Given the description of an element on the screen output the (x, y) to click on. 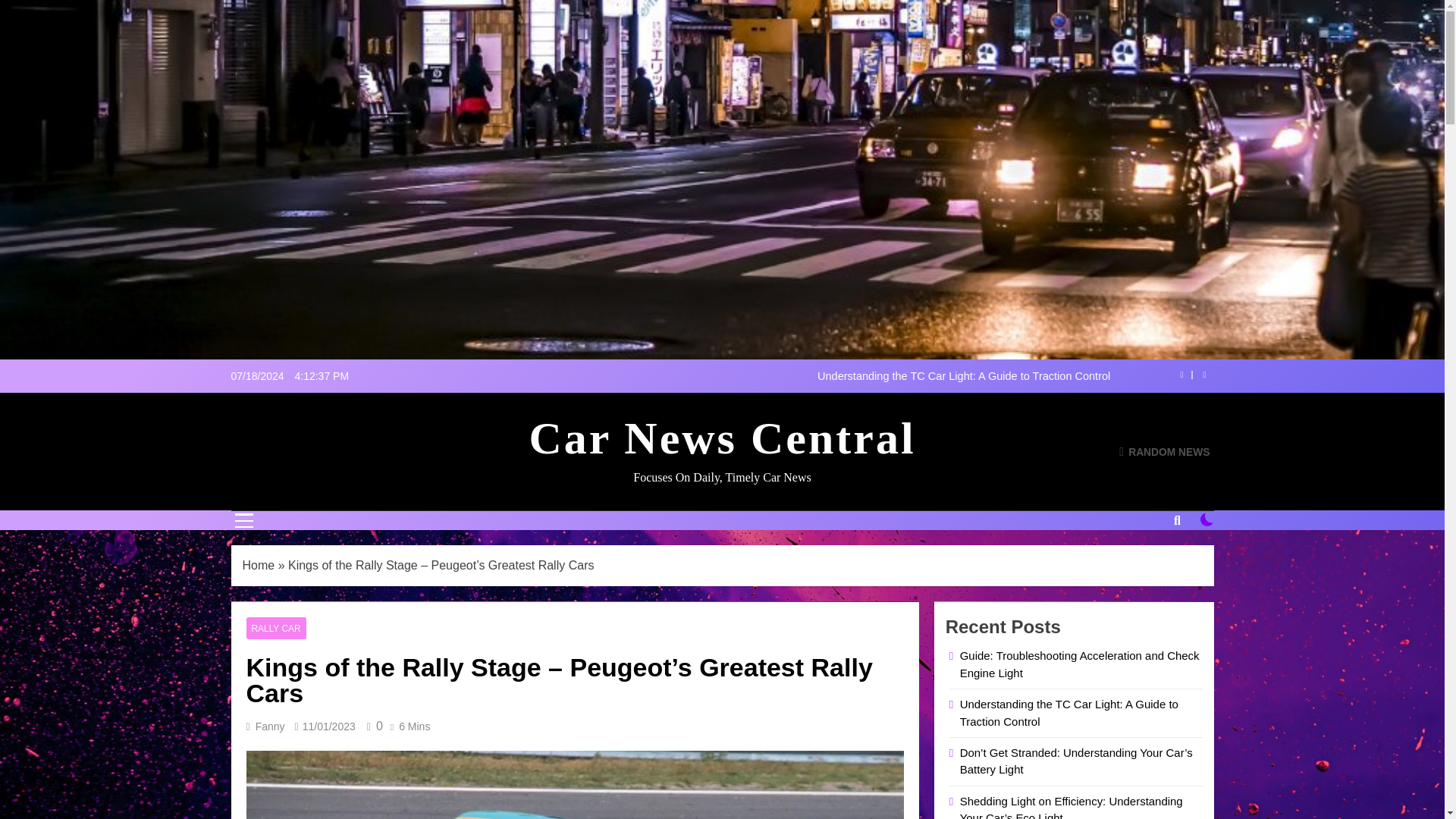
Understanding the TC Car Light: A Guide to Traction Control (817, 376)
Home (259, 564)
RANDOM NEWS (1164, 451)
0 (371, 725)
RALLY CAR (275, 628)
on (1206, 519)
Understanding the TC Car Light: A Guide to Traction Control (817, 376)
Fanny (270, 726)
Car News Central (721, 438)
